Given the description of an element on the screen output the (x, y) to click on. 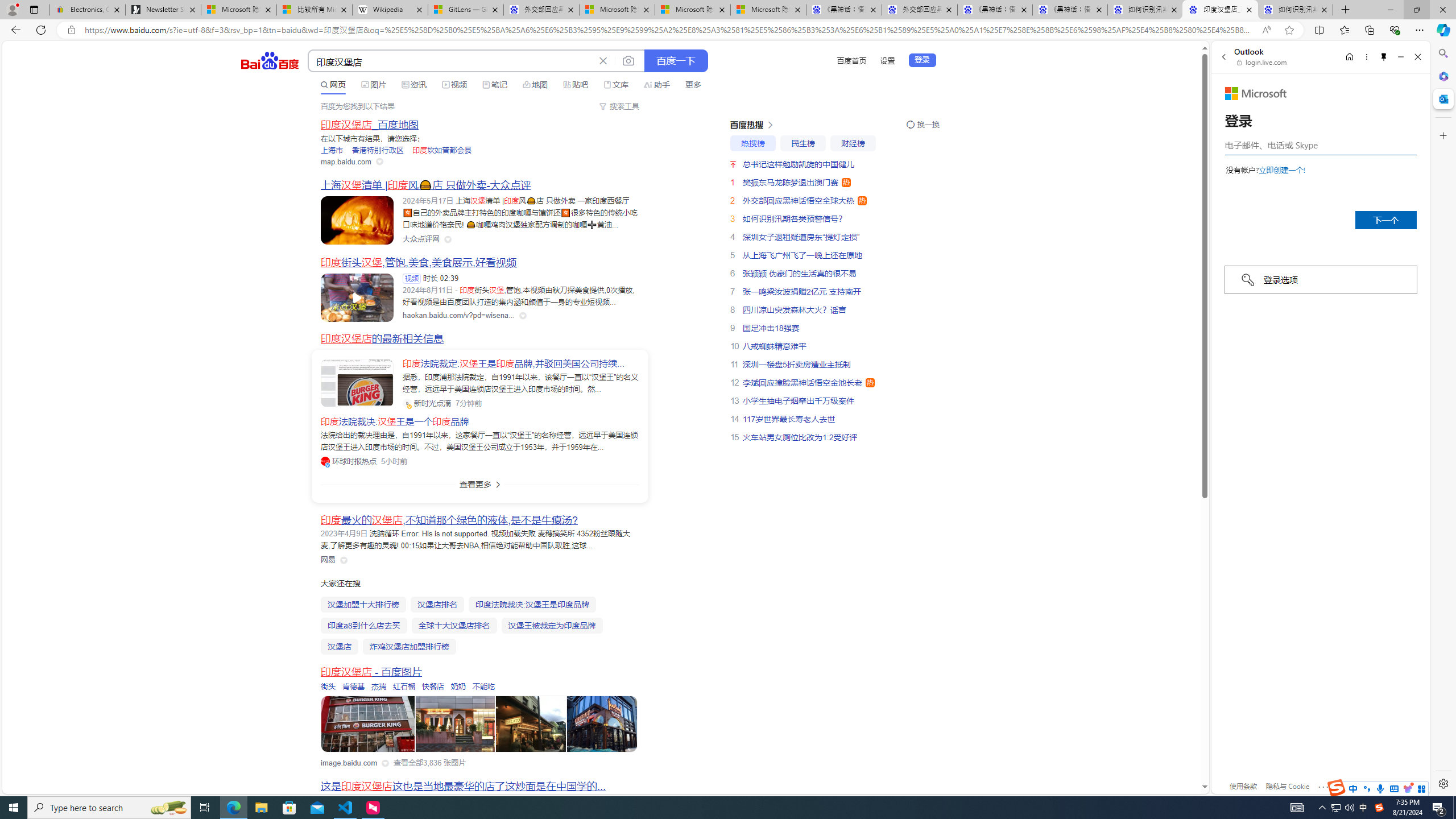
login.live.com (1262, 61)
Electronics, Cars, Fashion, Collectibles & More | eBay (87, 9)
